Given the description of an element on the screen output the (x, y) to click on. 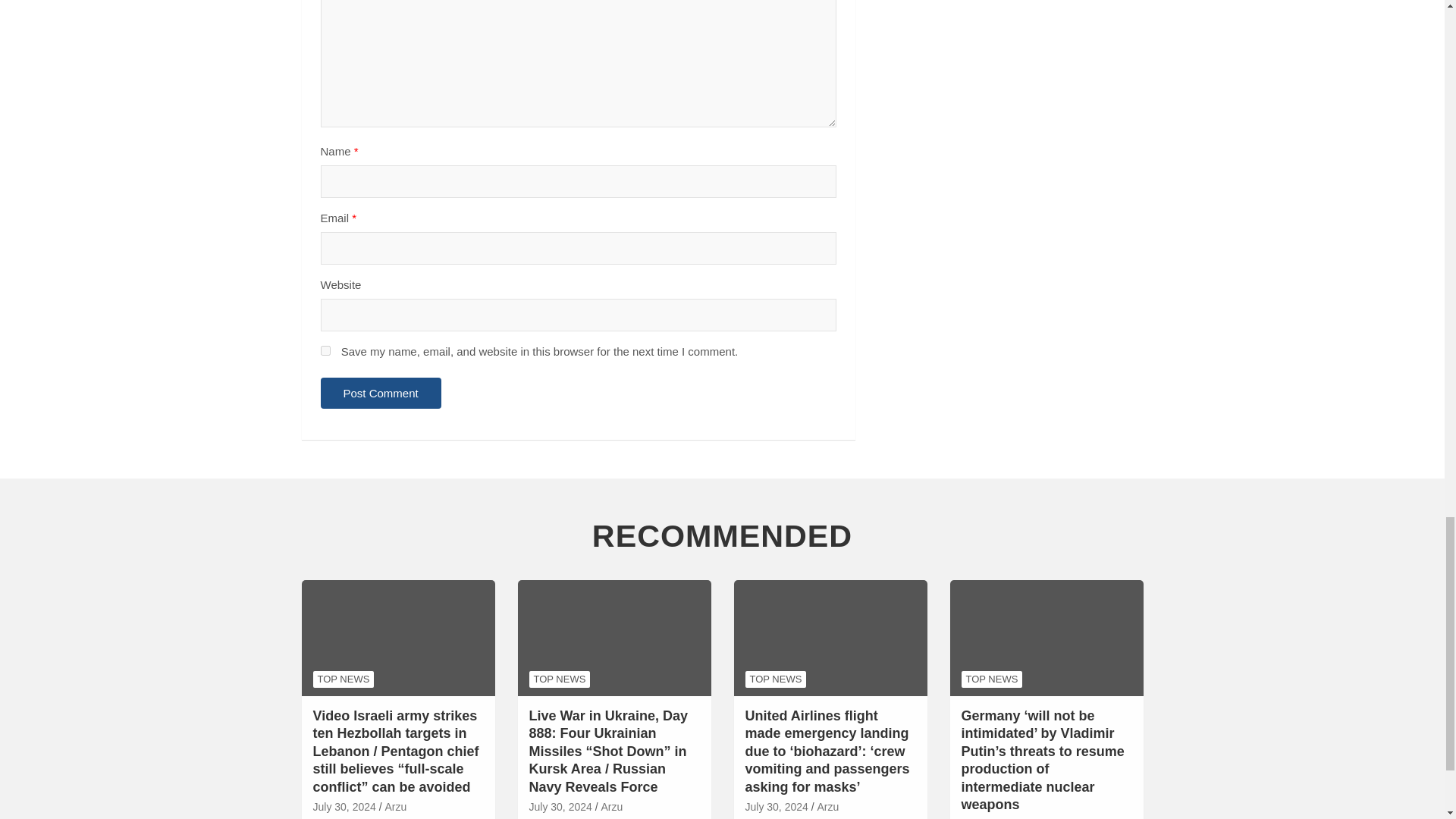
yes (325, 350)
July 30, 2024 (344, 807)
Arzu (395, 807)
Post Comment (380, 392)
TOP NEWS (343, 678)
Post Comment (380, 392)
